Given the description of an element on the screen output the (x, y) to click on. 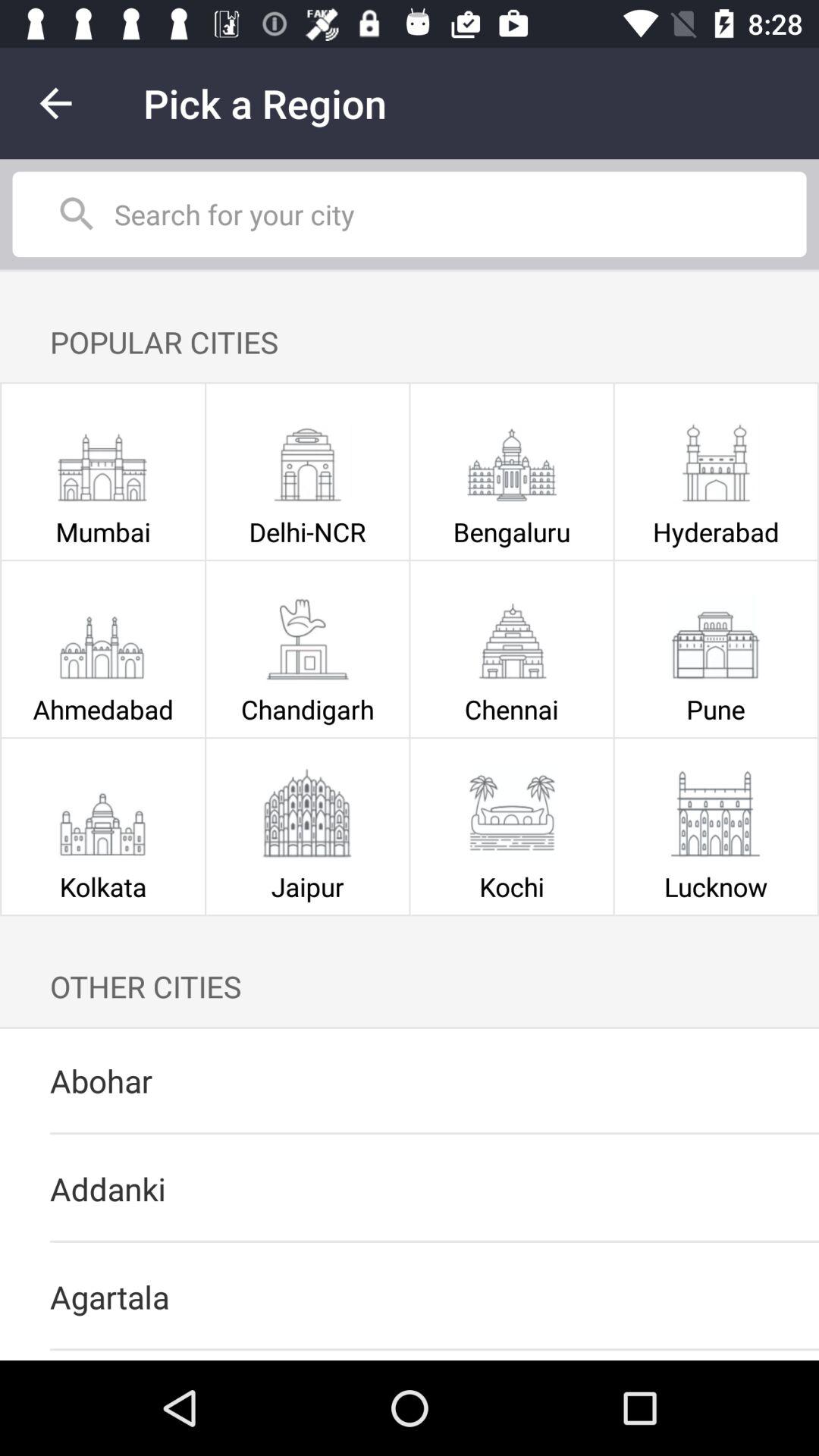
click on the icon right to bengaluru (715, 458)
